Given the description of an element on the screen output the (x, y) to click on. 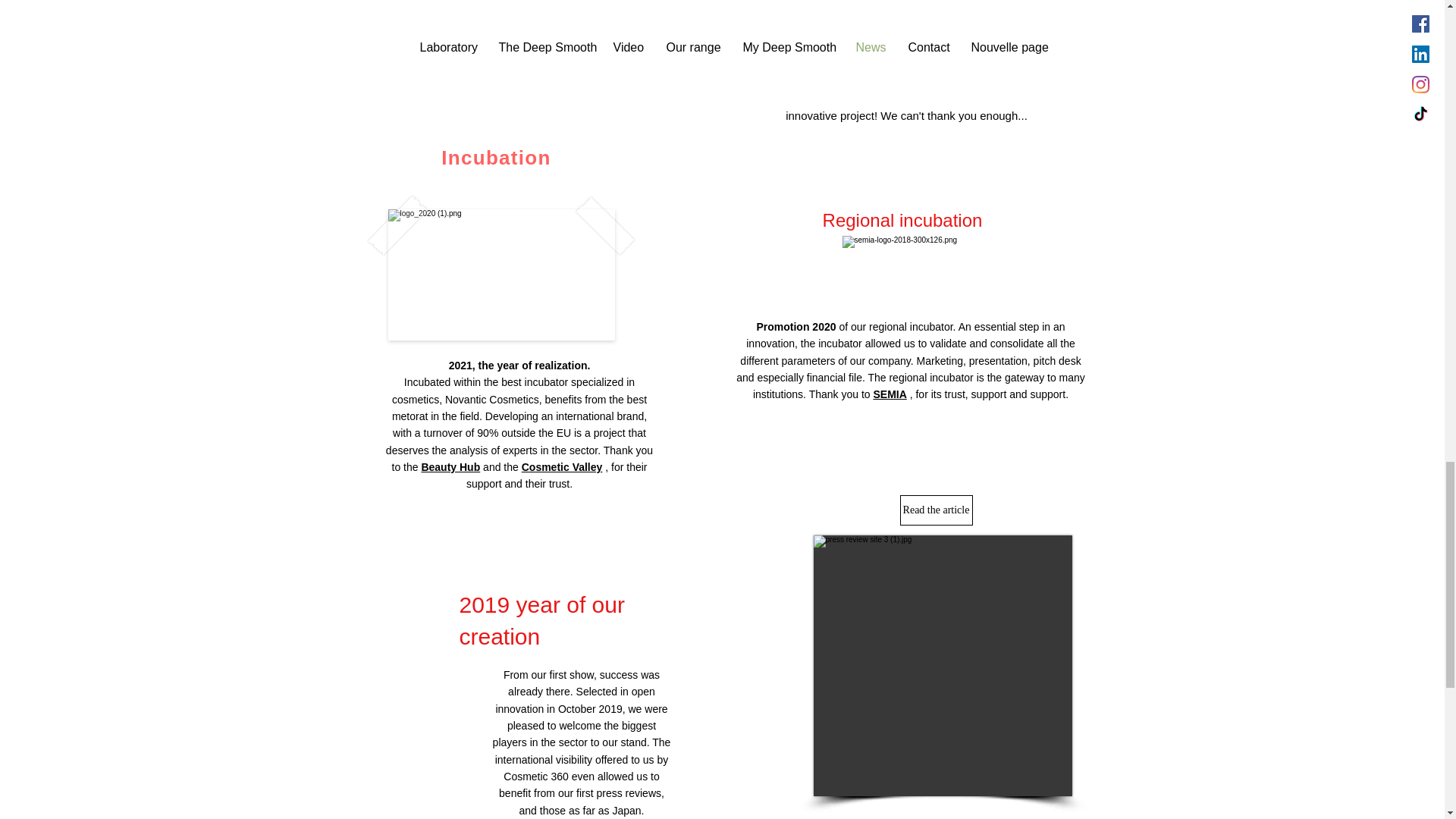
Beauty Hub (450, 467)
SEMIA (888, 394)
Cosmetic Valley (561, 467)
Read the article (935, 510)
